Given the description of an element on the screen output the (x, y) to click on. 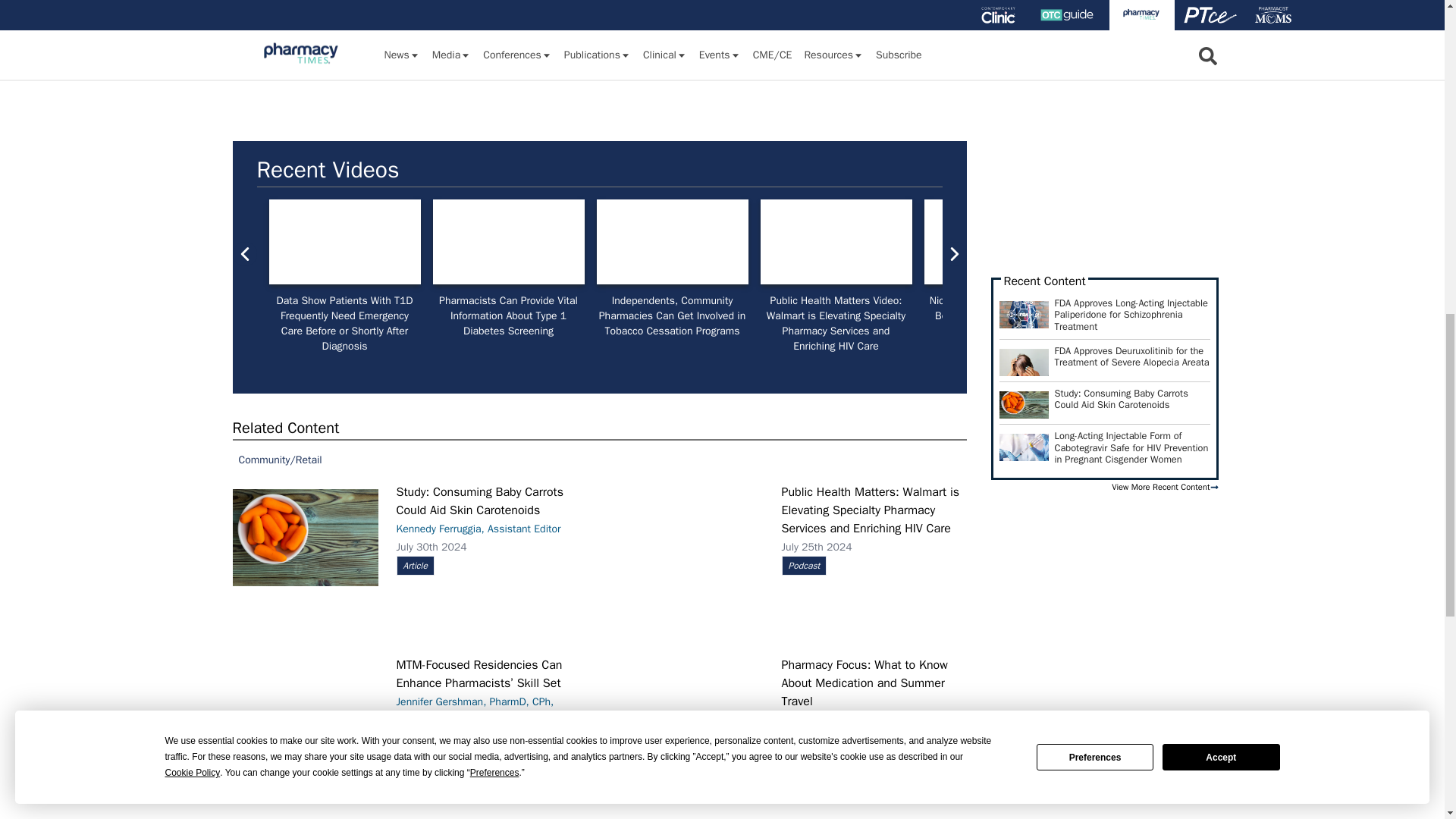
Expanded Technician Roles Call for Defined Career Ladders (1163, 241)
